Given the description of an element on the screen output the (x, y) to click on. 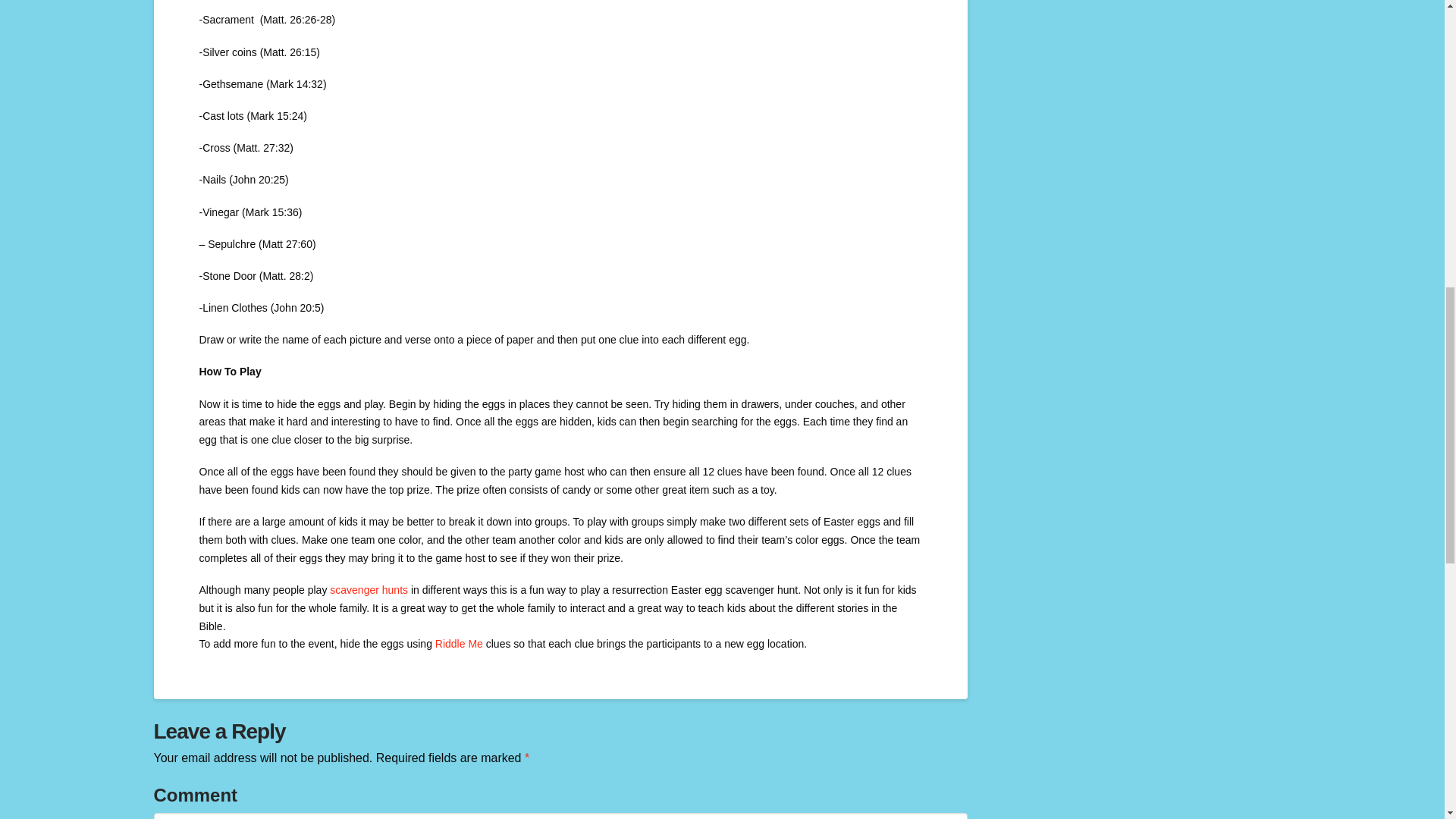
Riddle Me (459, 644)
scavenger hunts (368, 589)
